Given the description of an element on the screen output the (x, y) to click on. 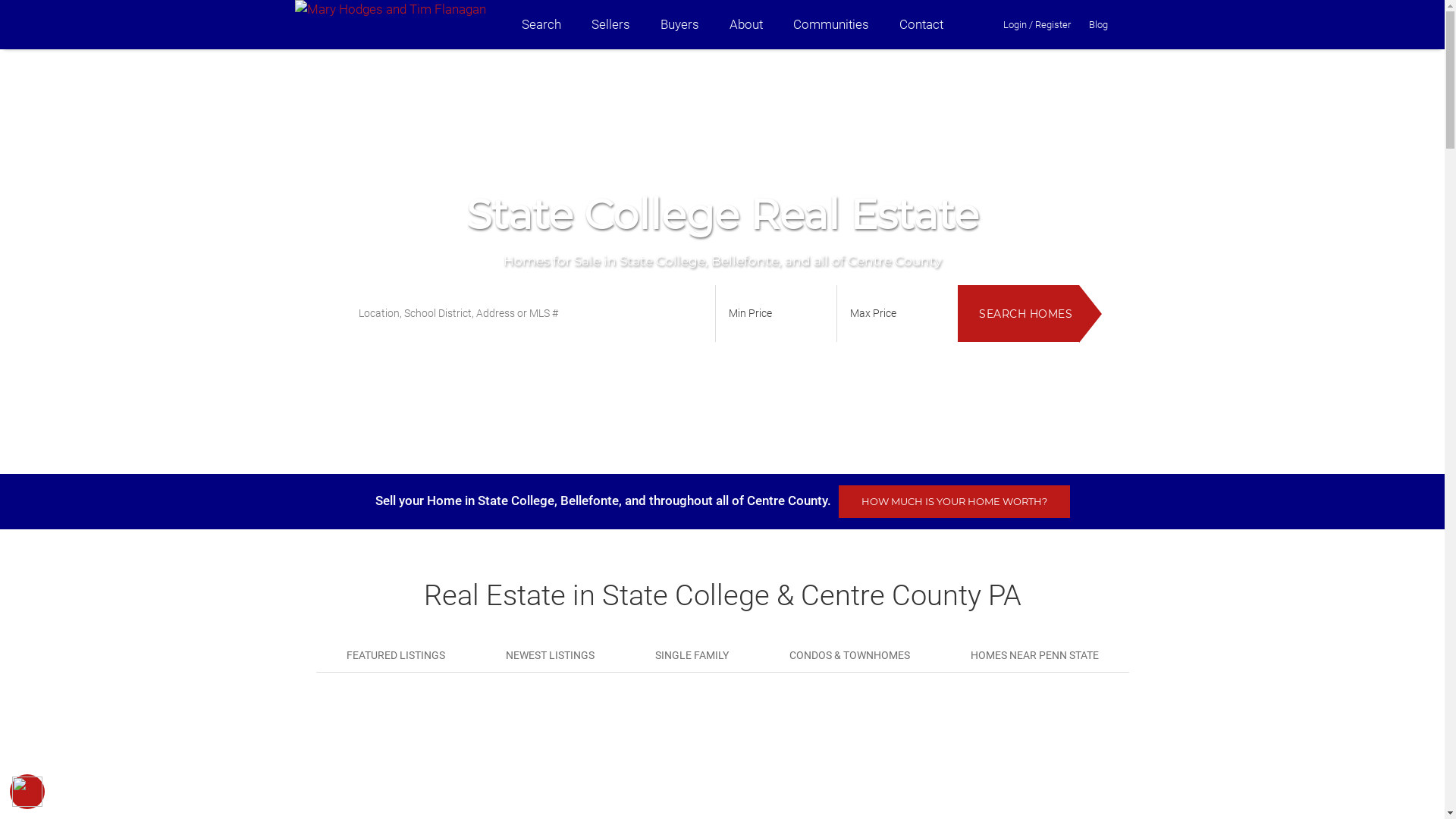
Communities Element type: text (831, 24)
Select Language Element type: hover (1140, 24)
Contact Element type: text (921, 24)
Sellers Element type: text (610, 24)
Enter Location, School District, Address or MLS # Element type: hover (528, 313)
Blog Element type: text (1097, 24)
About Element type: text (746, 24)
HOW MUCH IS YOUR HOME WORTH? Element type: text (954, 501)
Search Element type: text (541, 24)
Login/ Element type: text (1018, 24)
SEARCH HOMES Element type: text (1017, 313)
Register Element type: text (1052, 24)
Buyers Element type: text (678, 24)
